Given the description of an element on the screen output the (x, y) to click on. 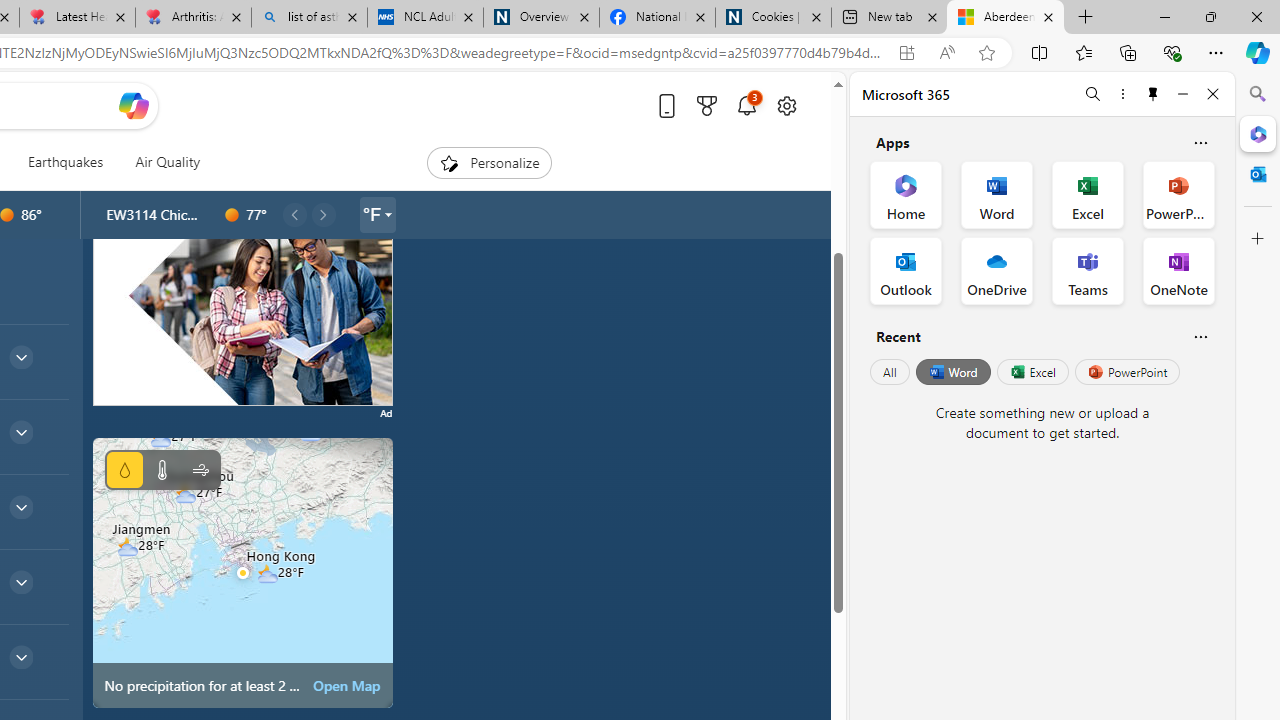
Air Quality (159, 162)
Earthquakes (64, 162)
Outlook Office App (906, 270)
Teams Office App (1087, 270)
Cookies | About | NICE (772, 17)
Word Office App (996, 194)
locationBar/triangle (387, 214)
